Given the description of an element on the screen output the (x, y) to click on. 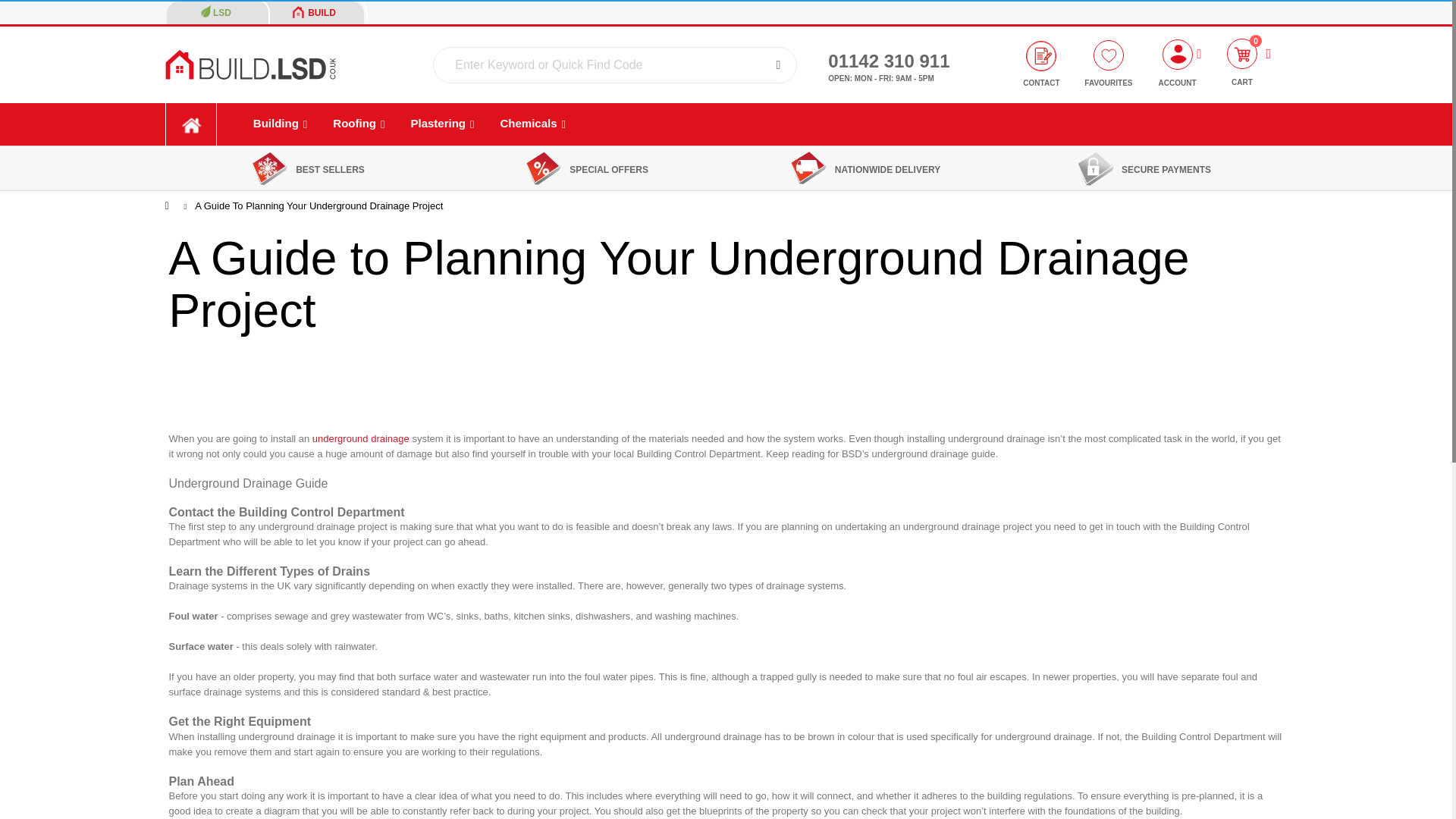
Roofing (358, 124)
BUILD (314, 12)
LSD (215, 12)
Online Building Products Supplier BSD (250, 64)
Building (279, 124)
Building (279, 124)
FAVOURITES (1108, 66)
Roofing (358, 124)
